Given the description of an element on the screen output the (x, y) to click on. 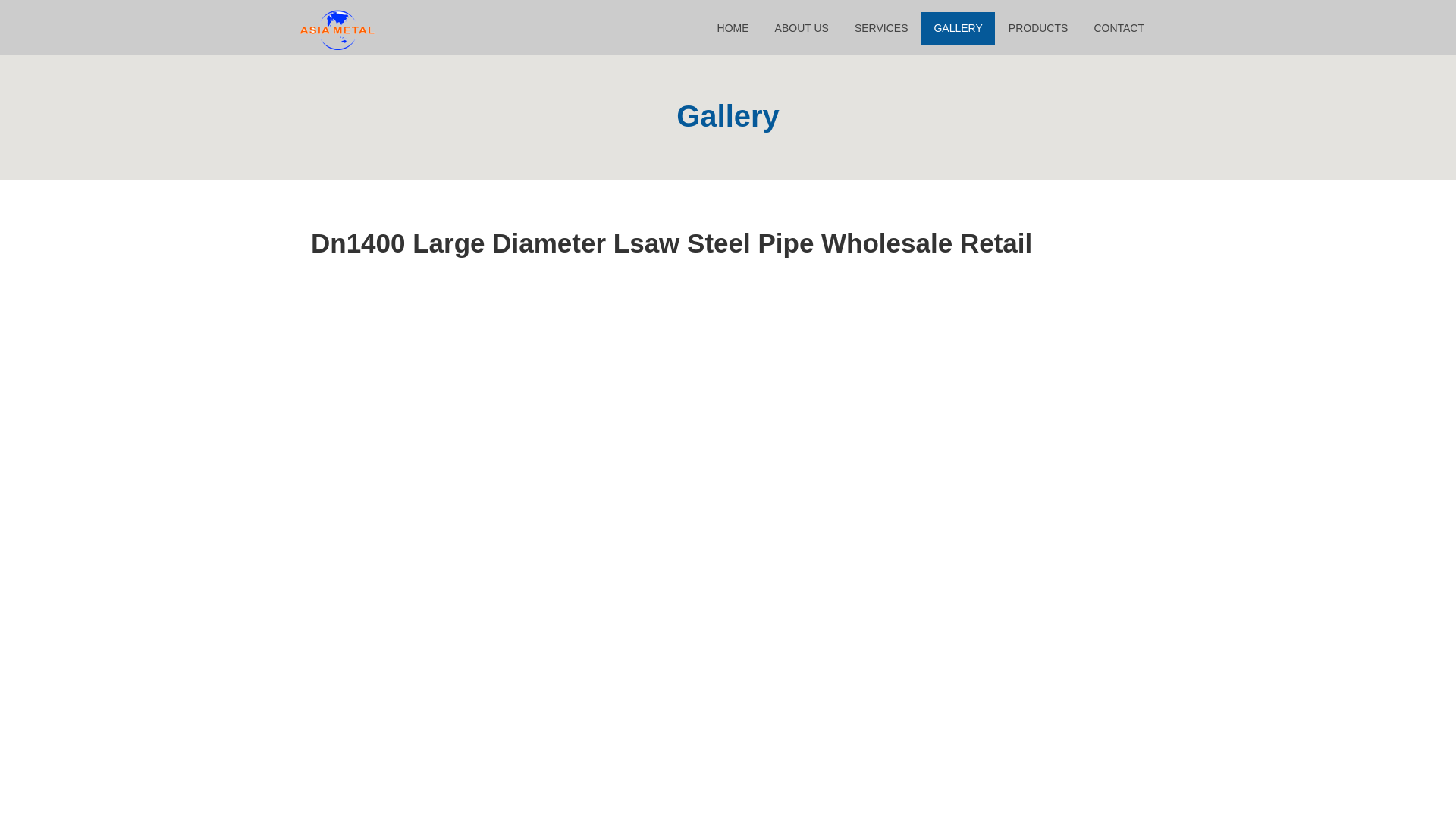
HOME (732, 28)
GALLERY (957, 28)
SERVICES (881, 28)
CONTACT (1118, 28)
PRODUCTS (1037, 28)
ABOUT US (801, 28)
